Given the description of an element on the screen output the (x, y) to click on. 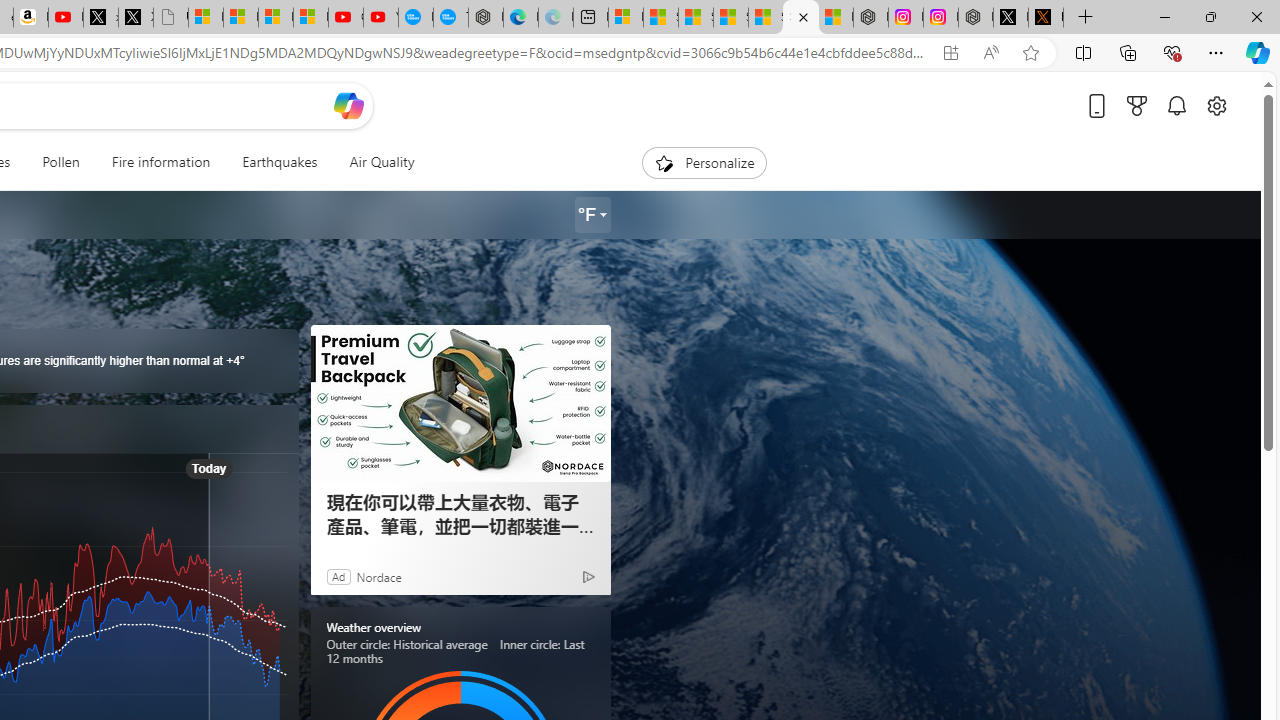
Fire information (160, 162)
Earthquakes (280, 162)
Minimize (1164, 16)
help.x.com | 524: A timeout occurred (1046, 17)
Browser essentials (1171, 52)
Ad Choice (588, 575)
Nordace - Summer Adventures 2024 (975, 17)
Pollen (60, 162)
Open Copilot (347, 105)
Nordace (378, 576)
Split screen (1083, 52)
New Tab (1085, 17)
